Given the description of an element on the screen output the (x, y) to click on. 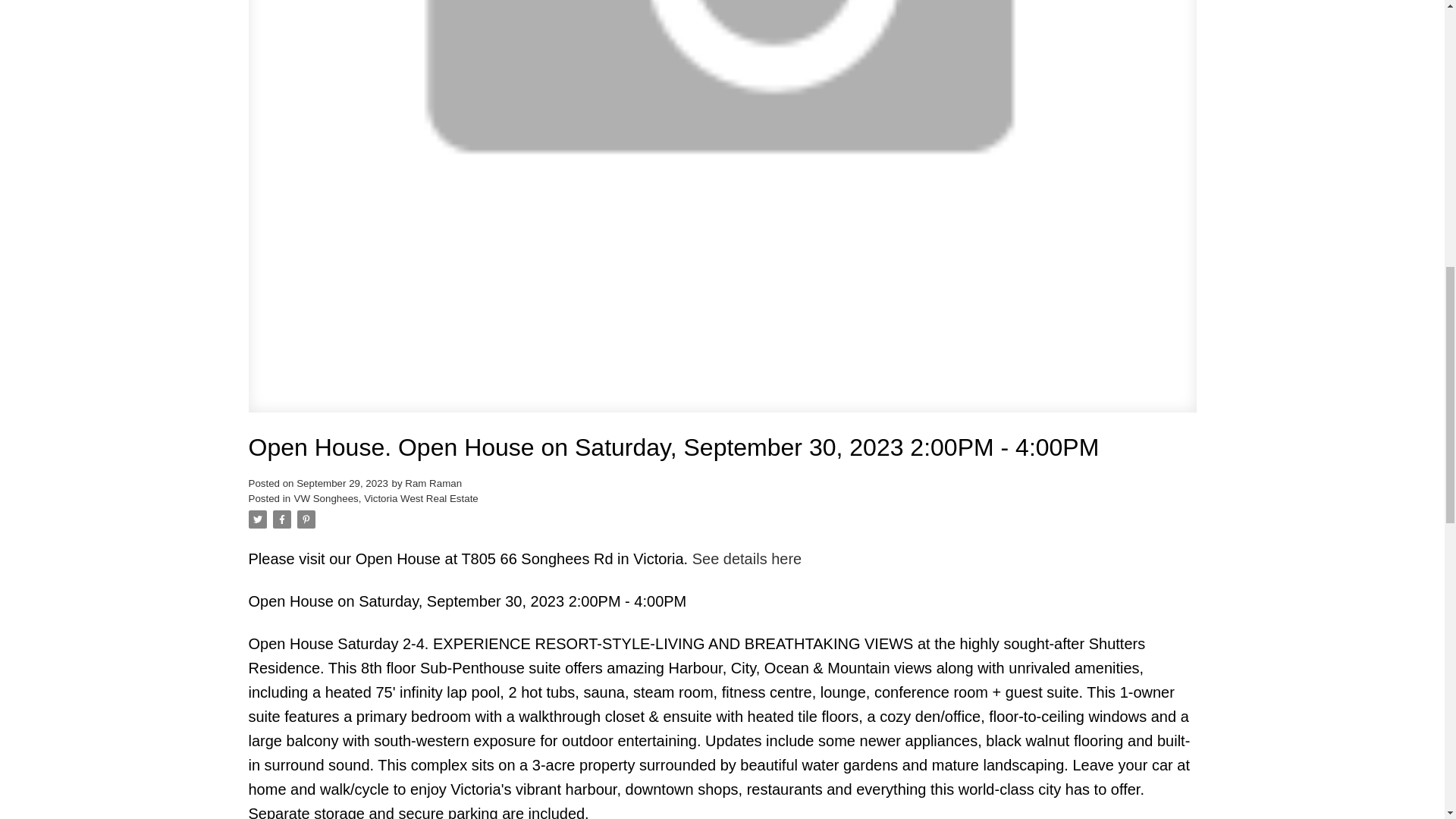
VW Songhees, Victoria West Real Estate (386, 498)
See details here (747, 558)
